Given the description of an element on the screen output the (x, y) to click on. 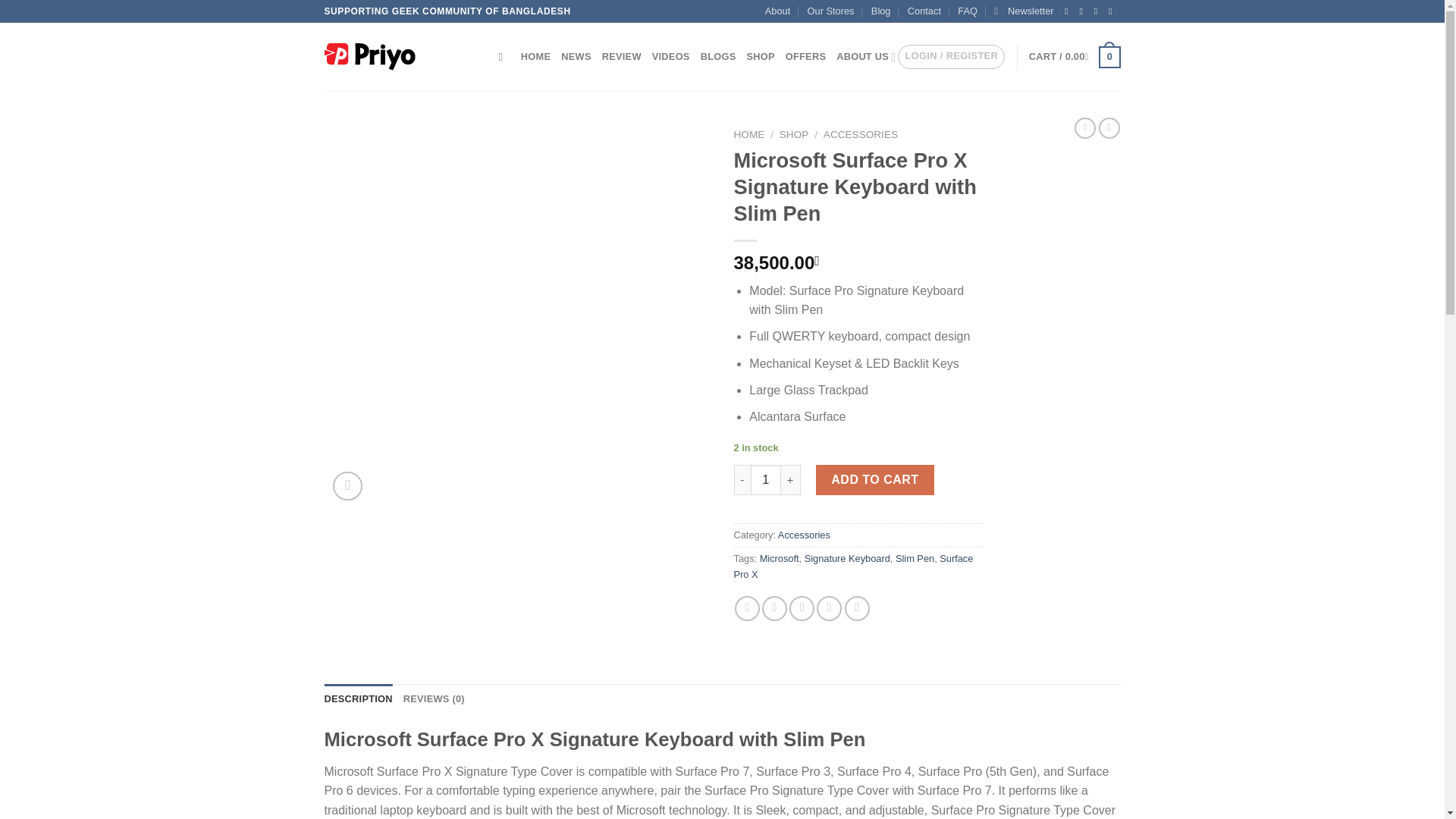
Zoom (347, 486)
Newsletter (1023, 11)
Our Stores (831, 11)
ABOUT US (865, 56)
HOME (749, 134)
Contact (923, 11)
VIDEOS (671, 56)
HOME (535, 56)
Sign up for Newsletter (1023, 11)
SHOP (759, 56)
